Given the description of an element on the screen output the (x, y) to click on. 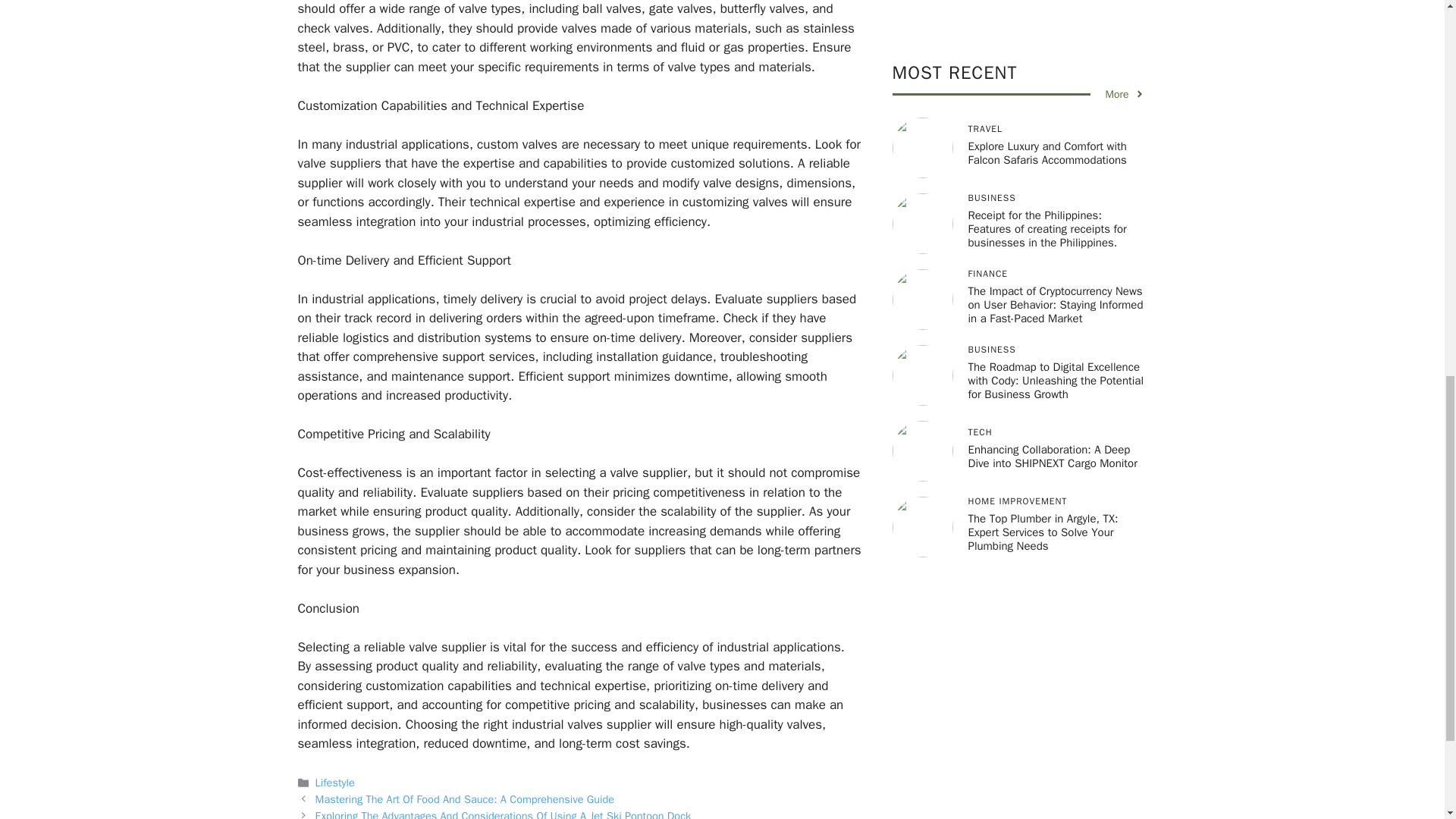
Mastering The Art Of Food And Sauce: A Comprehensive Guide (464, 798)
Lifestyle (335, 782)
